Given the description of an element on the screen output the (x, y) to click on. 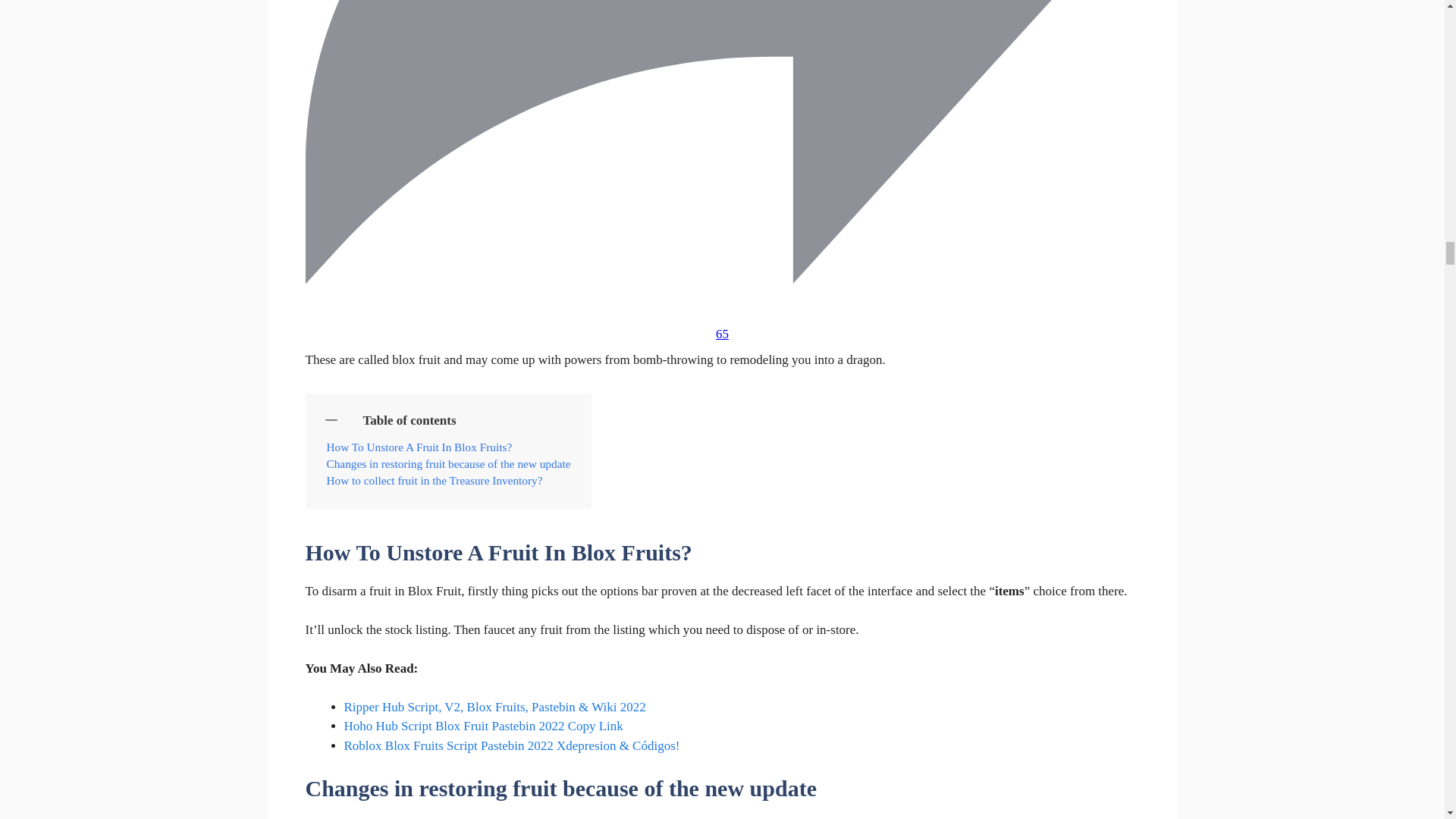
Changes in restoring fruit because of the new update (448, 463)
How To Unstore A Fruit In Blox Fruits? (419, 447)
Hoho Hub Script Blox Fruit Pastebin 2022 Copy Link (483, 726)
How To Unstore A Fruit In Blox Fruits? (419, 447)
Changes in restoring fruit because of the new update (448, 463)
How to collect fruit in the Treasure Inventory? (433, 480)
How to collect fruit in the Treasure Inventory? (433, 480)
